Given the description of an element on the screen output the (x, y) to click on. 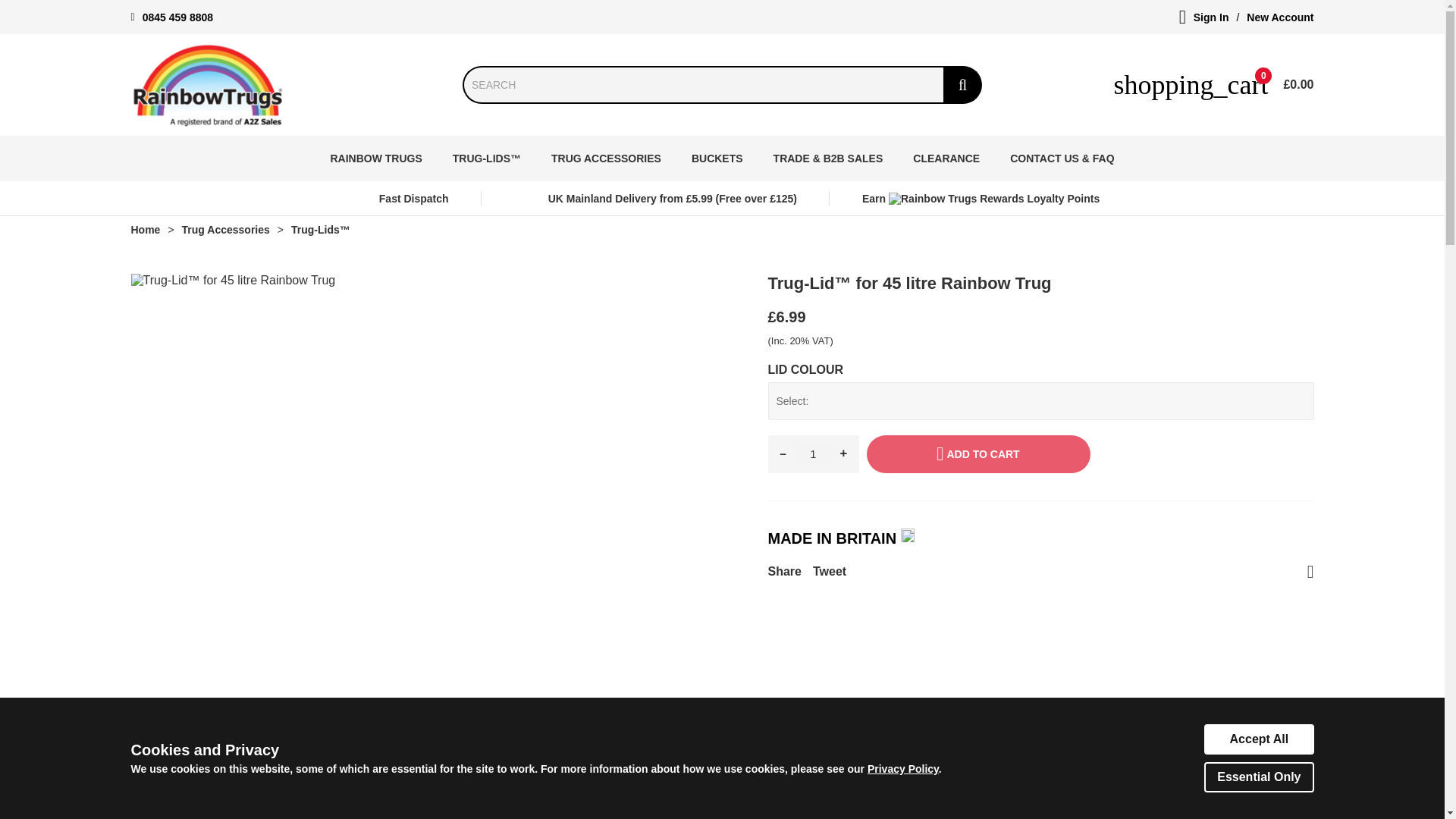
0845 459 8808 (177, 16)
Go (962, 85)
New Account (1279, 16)
1 (813, 454)
CLEARANCE (946, 157)
RAINBOW TRUGS (375, 157)
Sign In (1210, 16)
TRUG ACCESSORIES (606, 157)
BUCKETS (717, 157)
